Given the description of an element on the screen output the (x, y) to click on. 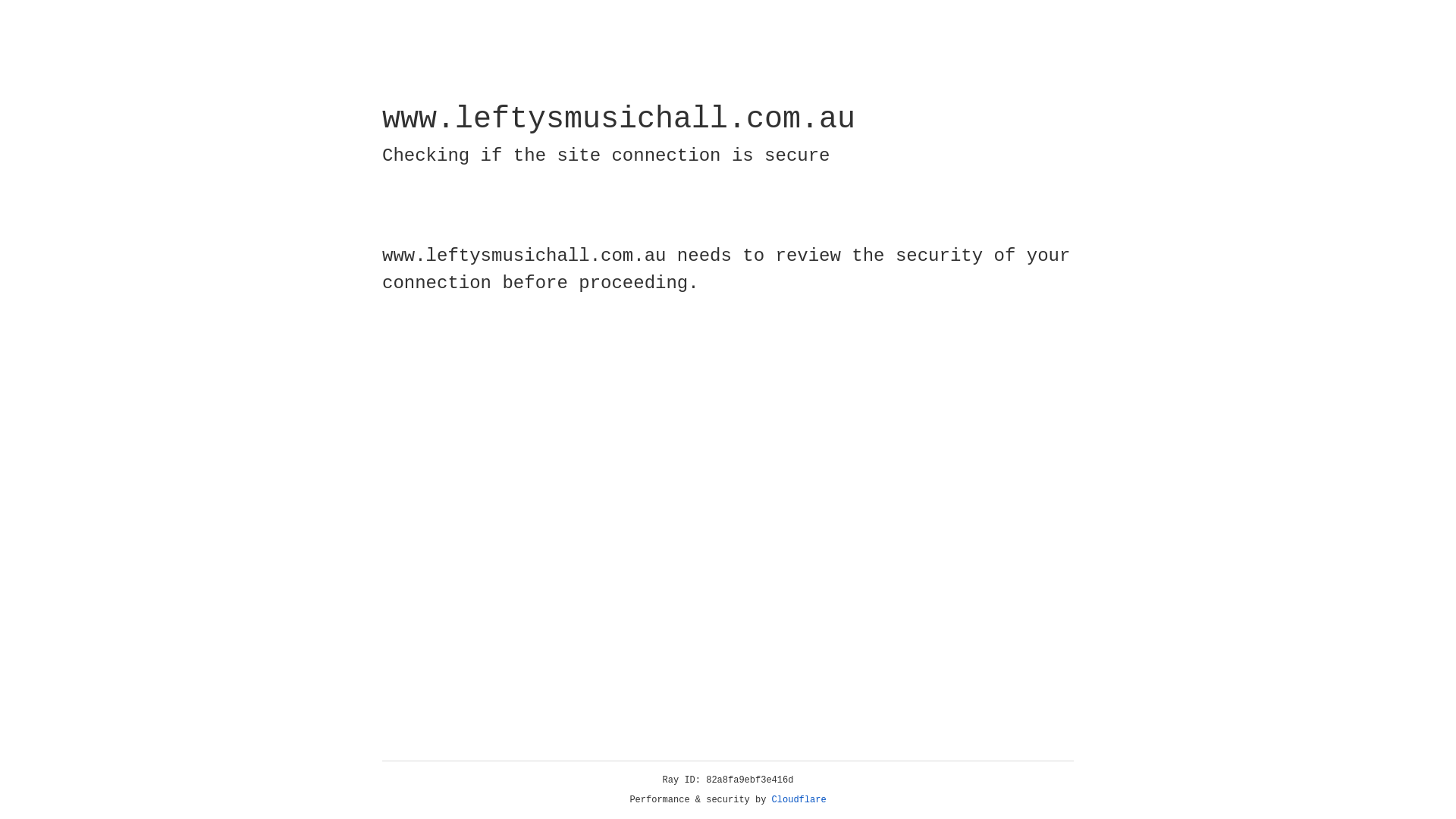
Cloudflare Element type: text (798, 799)
